Given the description of an element on the screen output the (x, y) to click on. 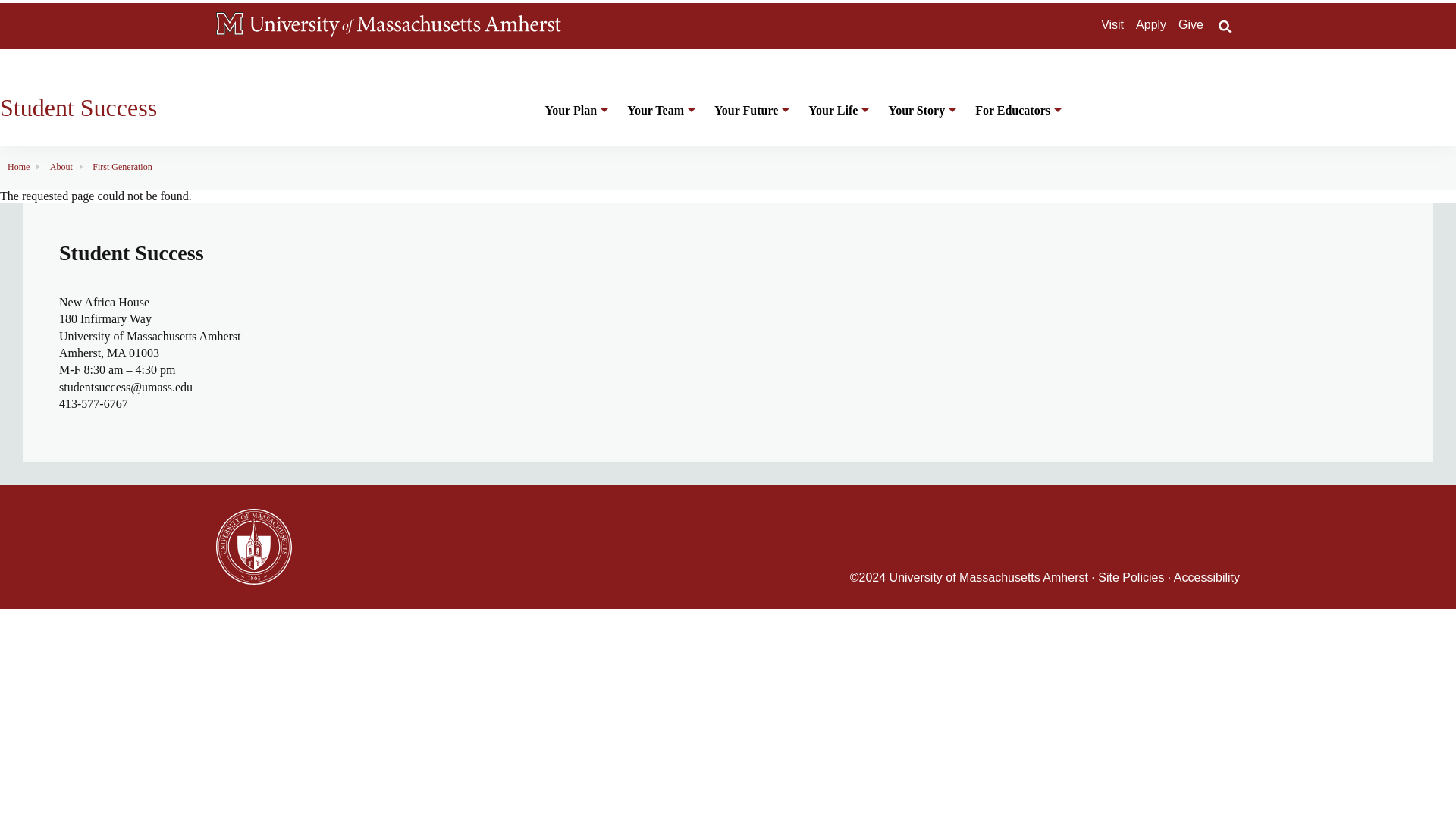
Your Plan (574, 118)
Search UMass.edu (1224, 26)
Your Life (836, 118)
UMass Collegiate M (229, 25)
Give (1190, 24)
UMass Amherst (404, 25)
UMass Collegiate M (229, 23)
The University of Massachusetts Amherst (404, 25)
Visit (1112, 24)
